Given the description of an element on the screen output the (x, y) to click on. 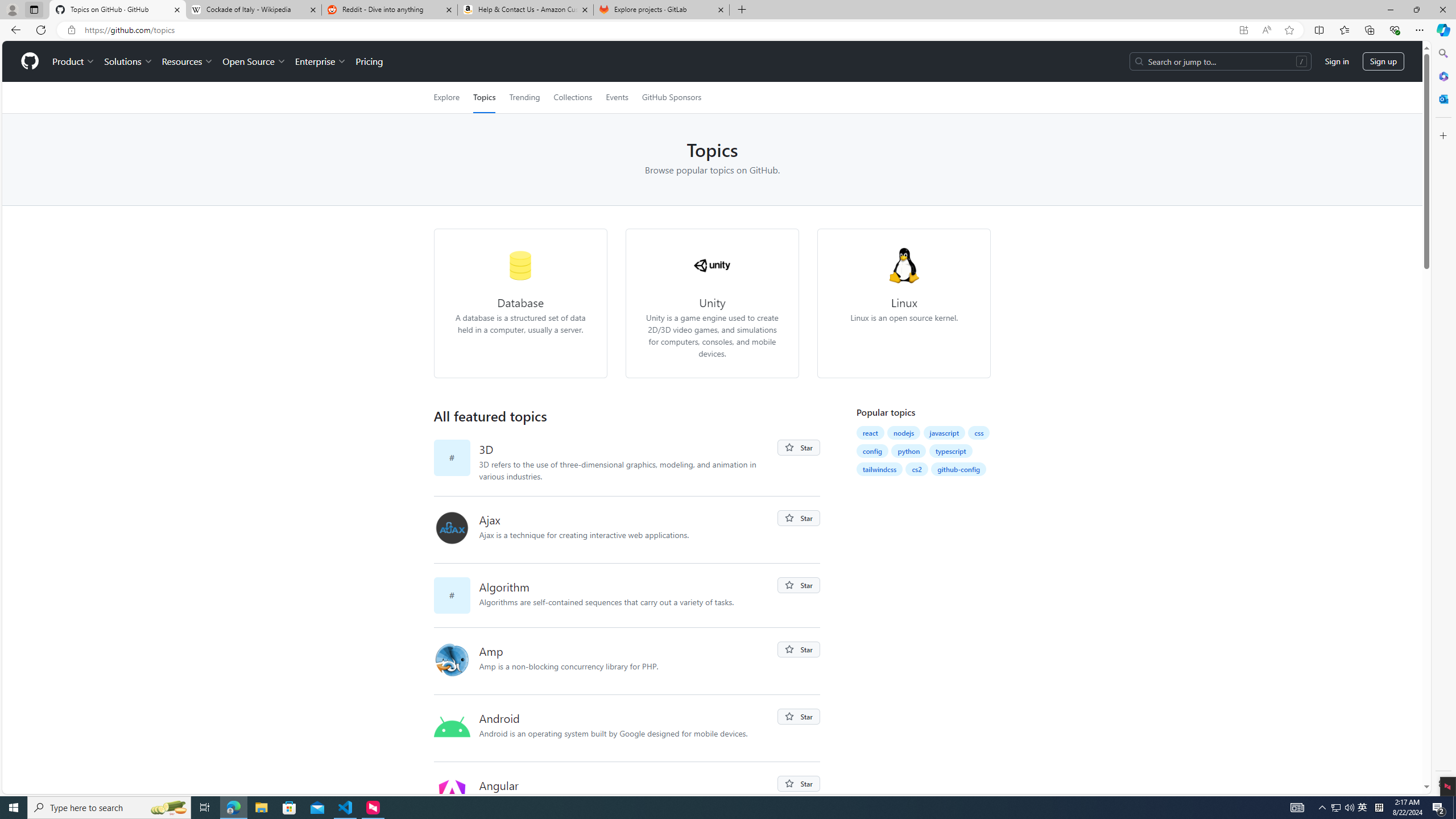
linux Linux Linux is an open source kernel. (903, 285)
css (979, 432)
cs2 (916, 468)
tailwindcss (880, 469)
Resources (187, 60)
You must be signed in to star a repository (798, 783)
unity (712, 265)
